Given the description of an element on the screen output the (x, y) to click on. 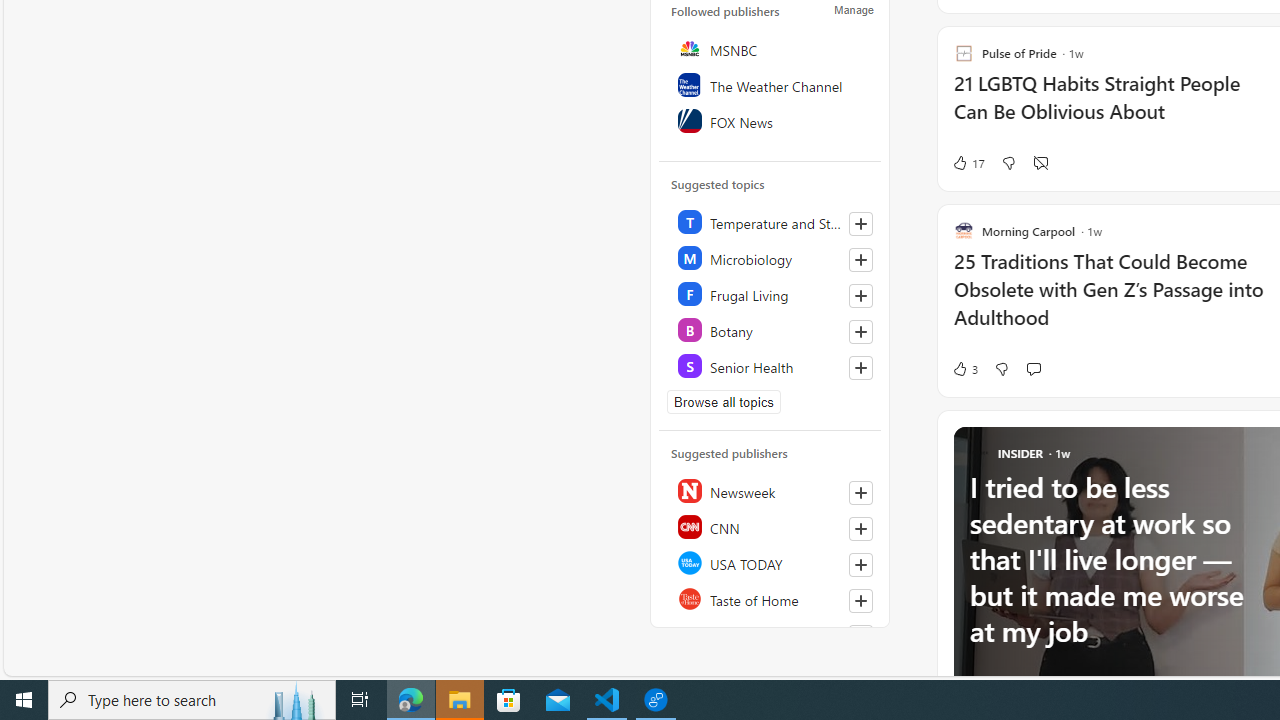
3 Like (964, 368)
The Weather Channel (771, 84)
FOX News (771, 120)
Follow this source (860, 636)
Taste of Home (771, 598)
Comments turned off for this story (1040, 162)
17 Like (968, 162)
Follow this source (860, 600)
Comments turned off for this story (1040, 162)
Start the conversation (1033, 368)
MSNBC (771, 48)
Start the conversation (1033, 368)
